Given the description of an element on the screen output the (x, y) to click on. 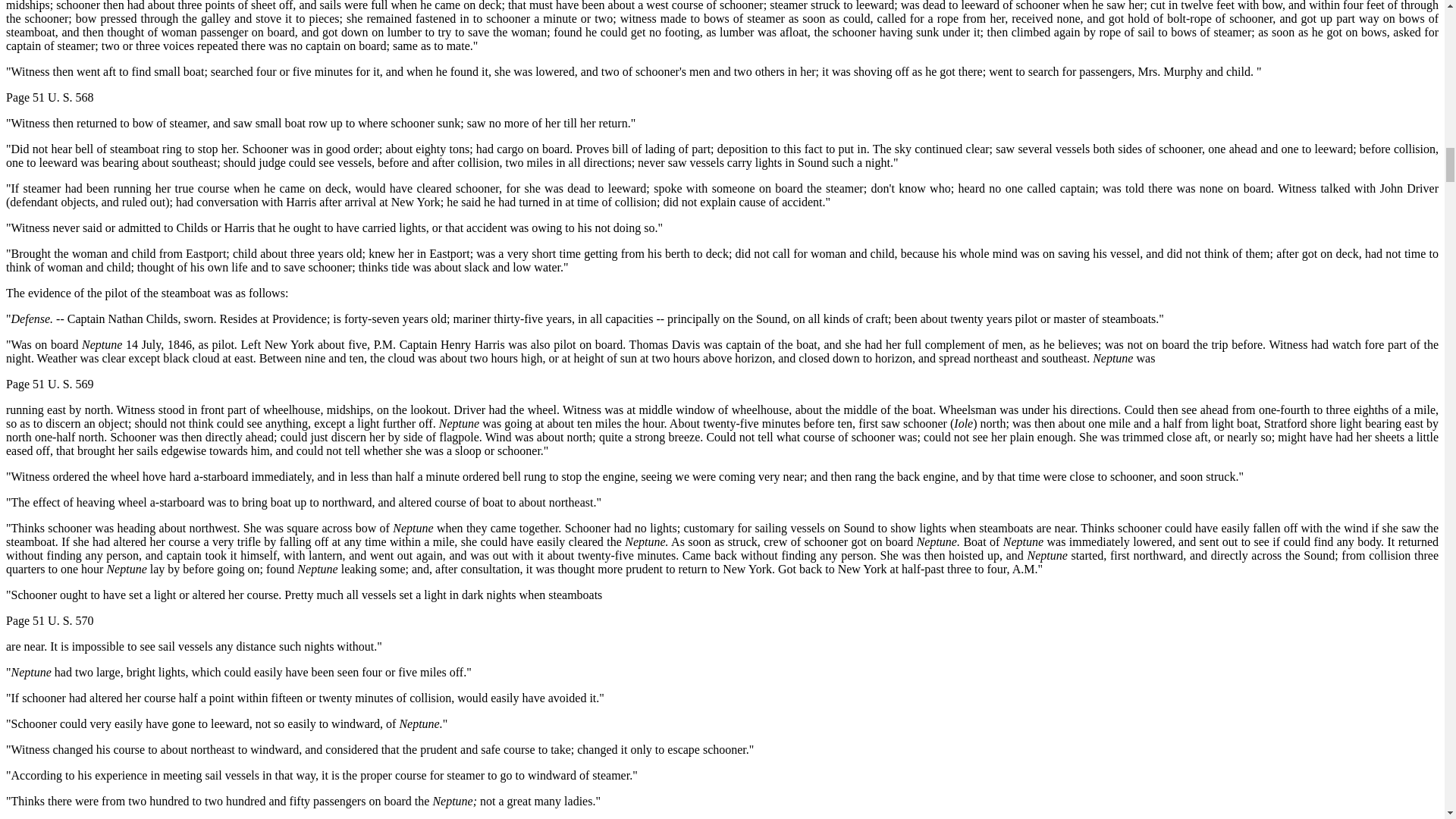
Page 51 U. S. 568 (49, 97)
Page 51 U. S. 569 (49, 383)
Page 51 U. S. 570 (49, 620)
